Given the description of an element on the screen output the (x, y) to click on. 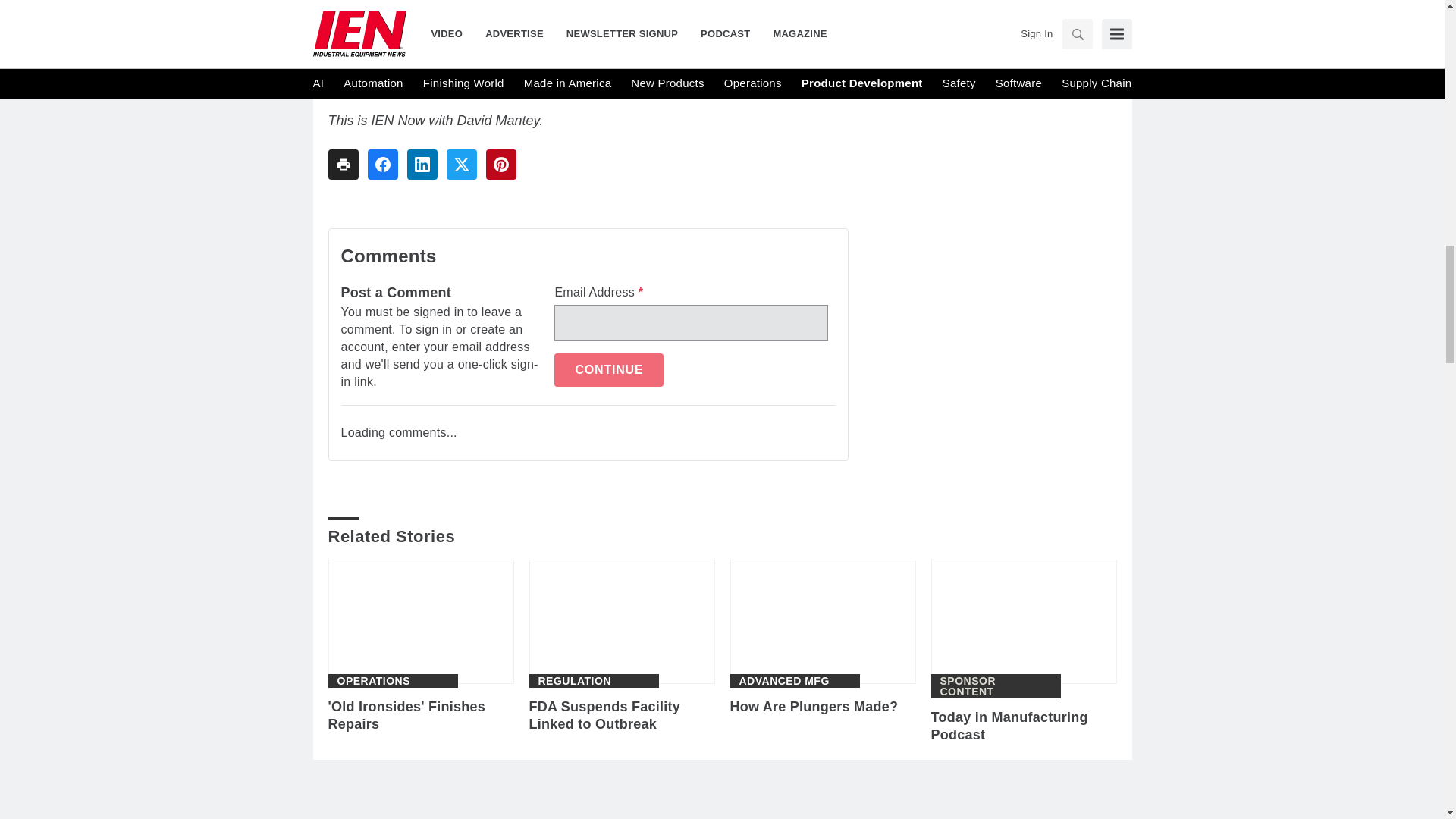
Share To linkedin (421, 164)
Share To facebook (381, 164)
Share To pinterest (499, 164)
Share To print (342, 164)
Share To twitter (460, 164)
